Given the description of an element on the screen output the (x, y) to click on. 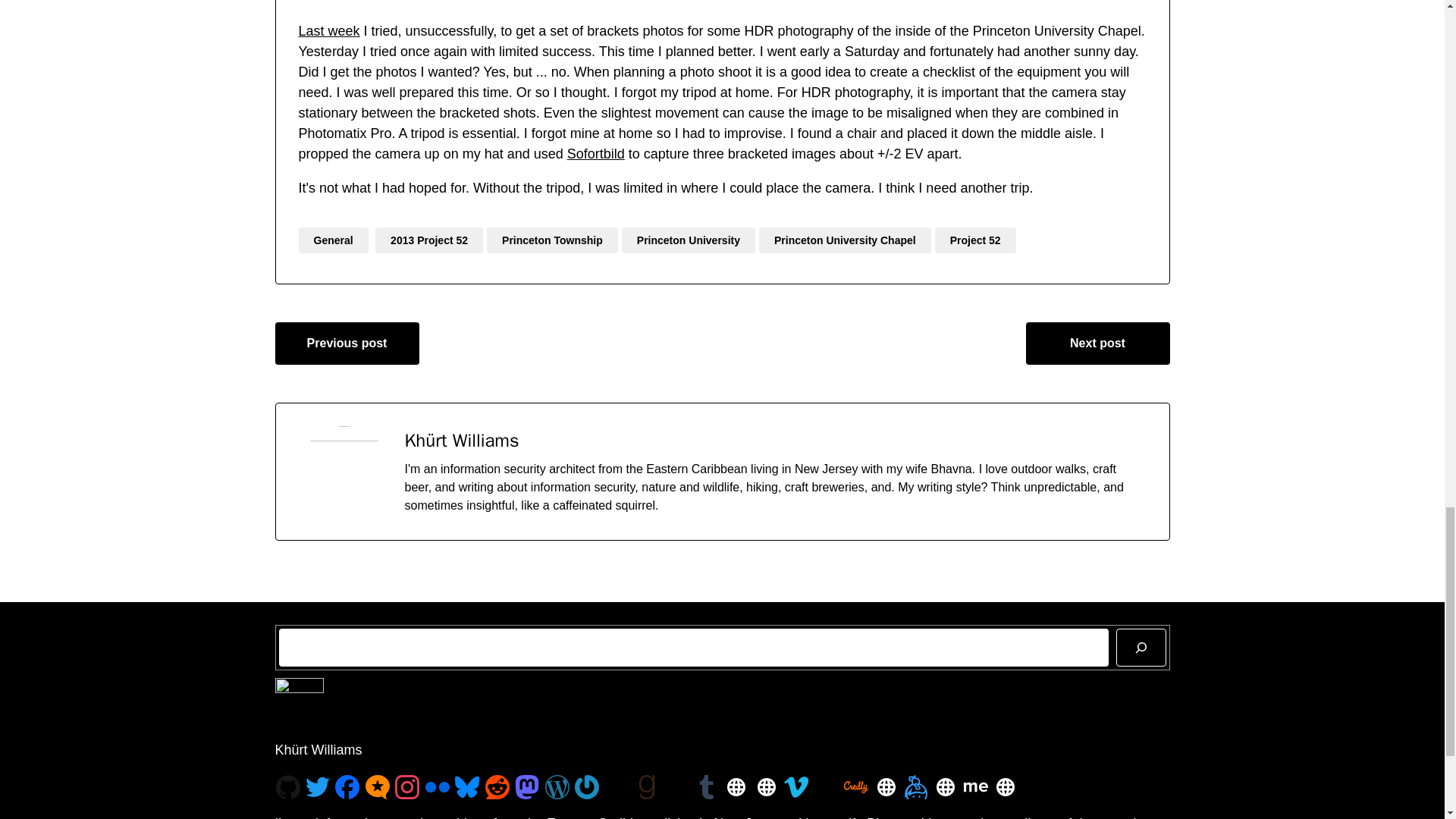
Previous post (347, 343)
2013 Project 52 (429, 240)
VSCO (675, 786)
Next post (1097, 343)
Last week (328, 30)
Nassau Hall (328, 30)
Princeton Township (551, 240)
WordPress (556, 786)
Princeton University Chapel (844, 240)
Facebook (346, 786)
